Given the description of an element on the screen output the (x, y) to click on. 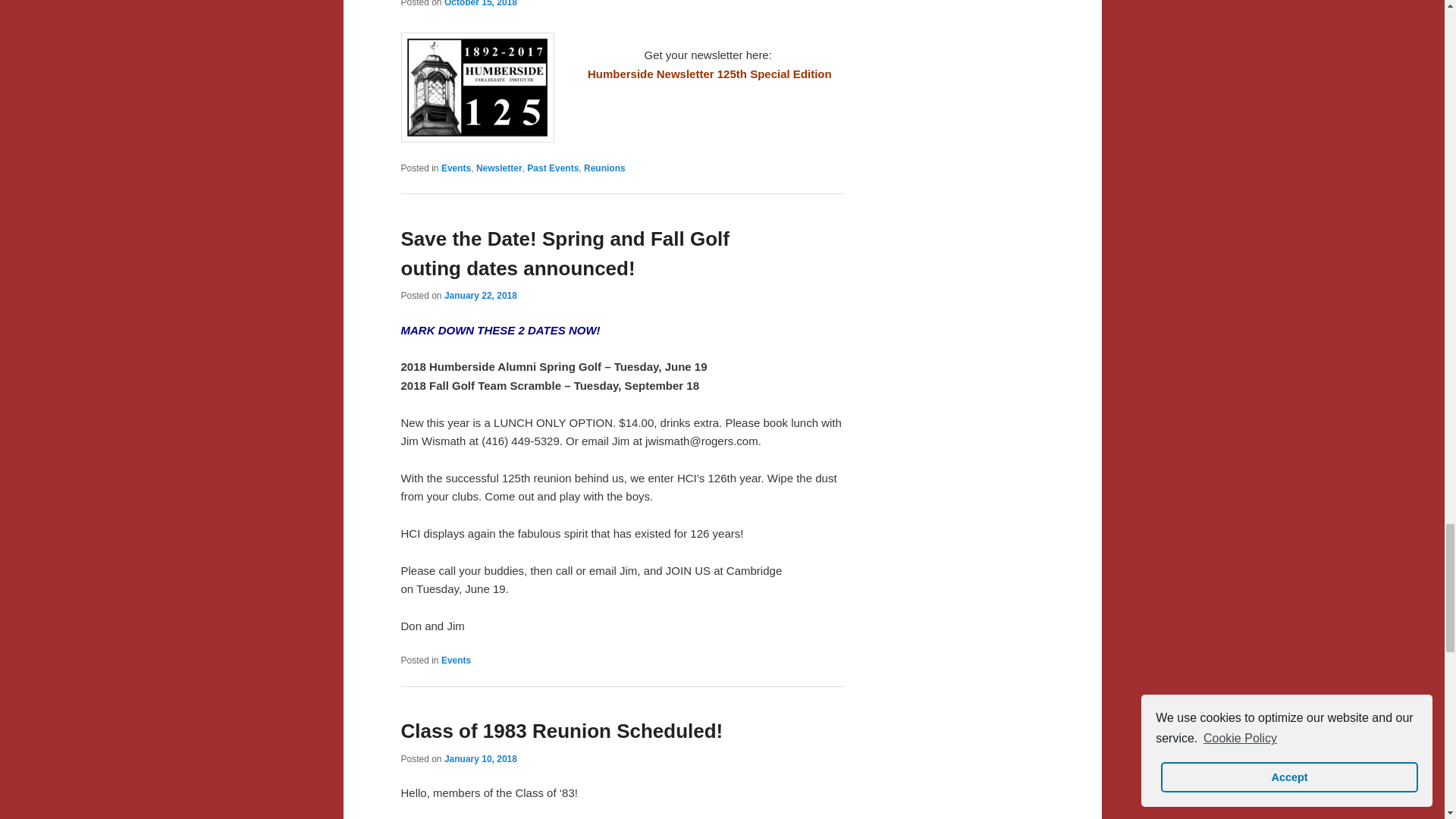
9:43 pm (480, 3)
7:30 pm (480, 295)
